Given the description of an element on the screen output the (x, y) to click on. 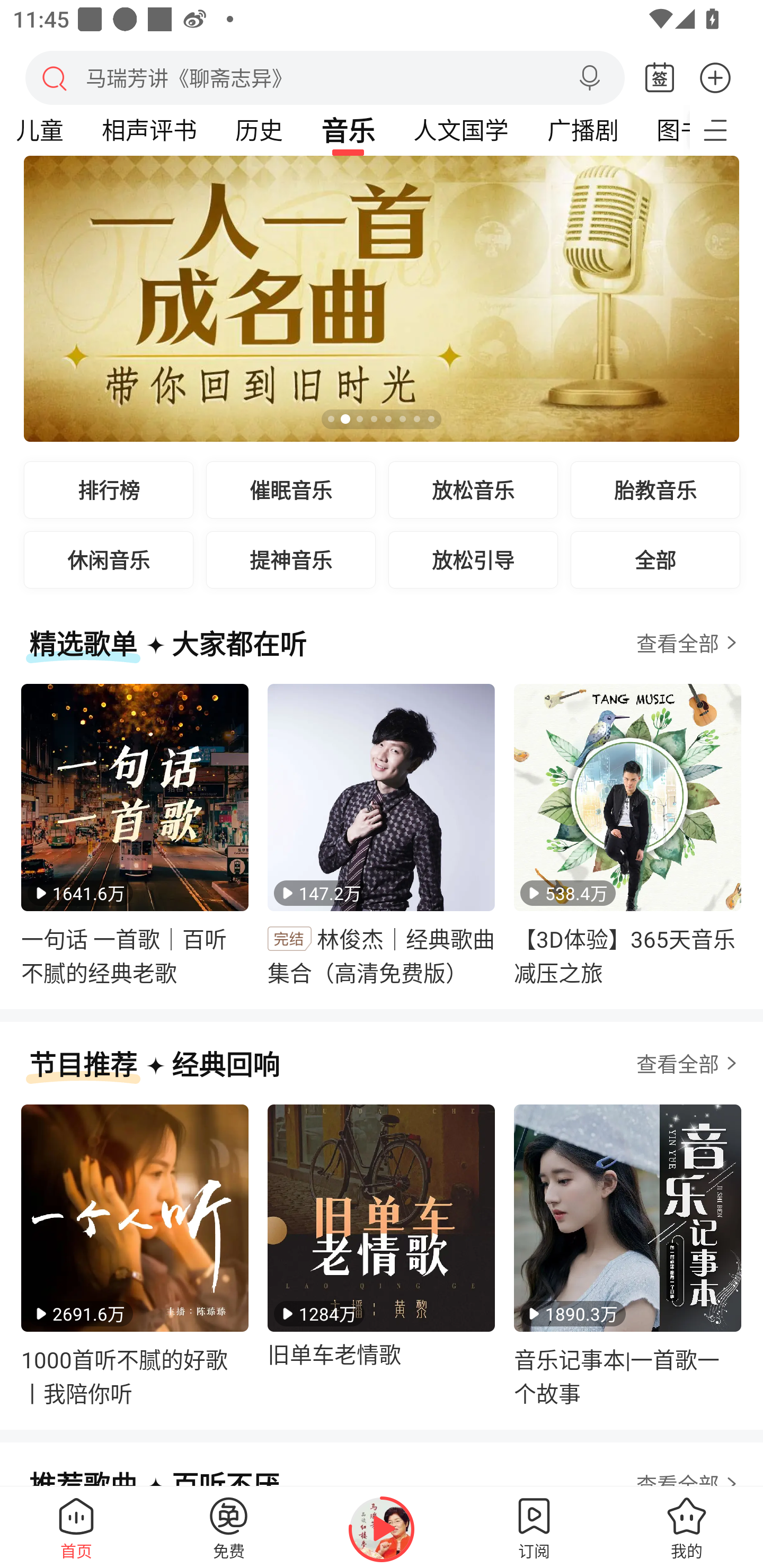
搜索 马瑞芳讲《聊斋志异》 语音搜索 (324, 77)
更多 (714, 77)
签到 (659, 78)
语音搜索 (589, 78)
儿童 (44, 130)
相声评书 (148, 130)
历史 (258, 130)
音乐 (348, 130)
人文国学 (460, 130)
广播剧 (582, 130)
更多频道 (726, 130)
焦点图 (381, 298)
排行榜 (108, 489)
催眠音乐 (290, 489)
放松音乐 (473, 489)
胎教音乐 (655, 489)
休闲音乐 (108, 559)
提神音乐 (290, 559)
放松引导 (473, 559)
全部 (655, 559)
查看全部 (688, 642)
1641.6万 一句话 一首歌｜百听不腻的经典老歌 (134, 835)
147.2万   林俊杰｜经典歌曲集合（高清免费版） (381, 835)
538.4万 【3D体验】365天音乐减压之旅 (627, 835)
查看全部 (688, 1062)
2691.6万 1000首听不腻的好歌丨我陪你听 (134, 1255)
1284万 旧单车老情歌 (381, 1255)
1890.3万 音乐记事本|一首歌一个故事 (627, 1255)
首页 (76, 1526)
免费 (228, 1526)
订阅 (533, 1526)
我的 (686, 1526)
继续播放【发刊词】从青丝到白发，为什么读《红楼梦》 (381, 1529)
